Given the description of an element on the screen output the (x, y) to click on. 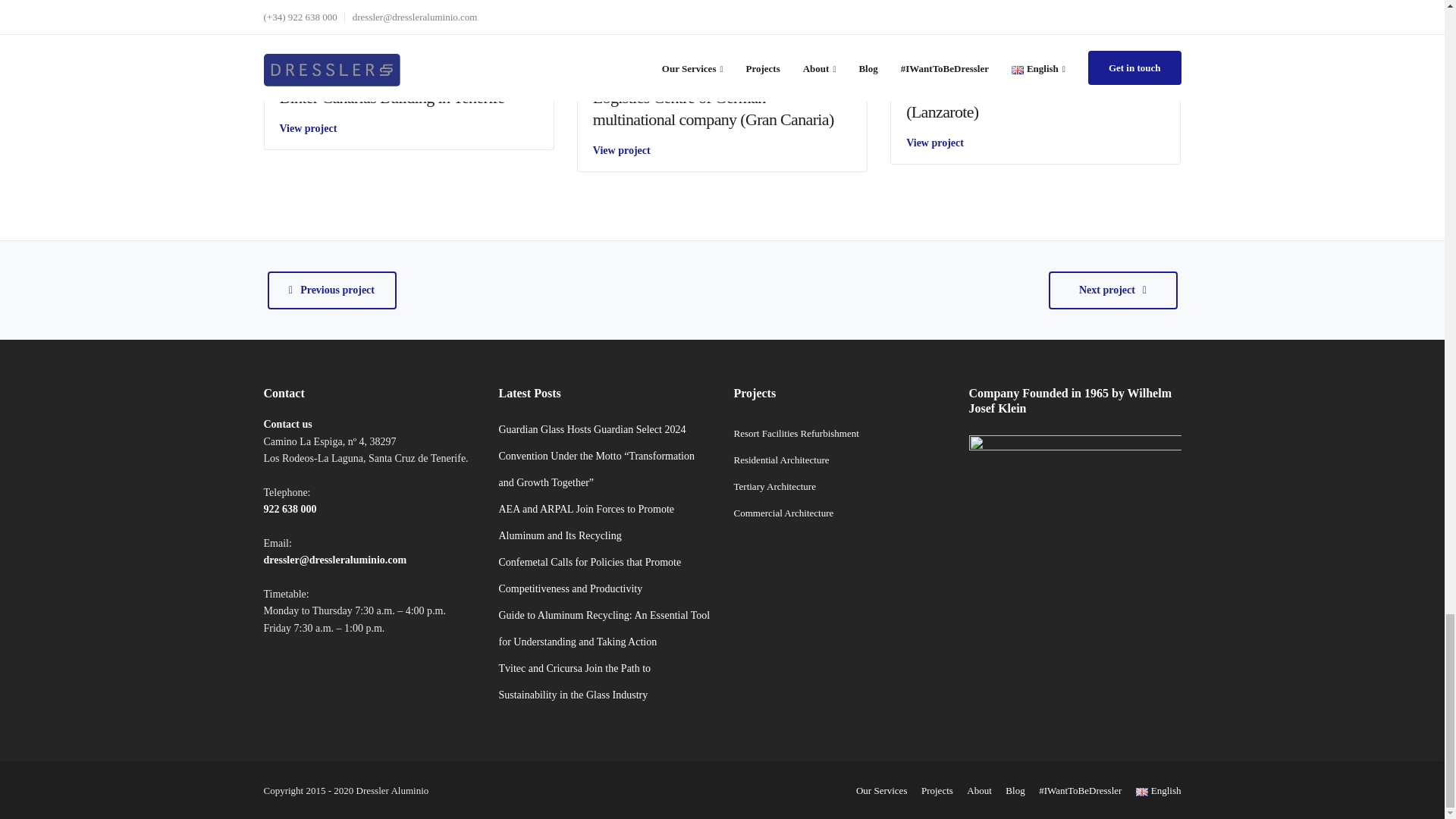
922 638 000 (290, 509)
View project (621, 150)
Next project (1112, 290)
Binter Canarias Building in Tenerife (391, 97)
Previous project (331, 290)
Contact us  (289, 423)
